Given the description of an element on the screen output the (x, y) to click on. 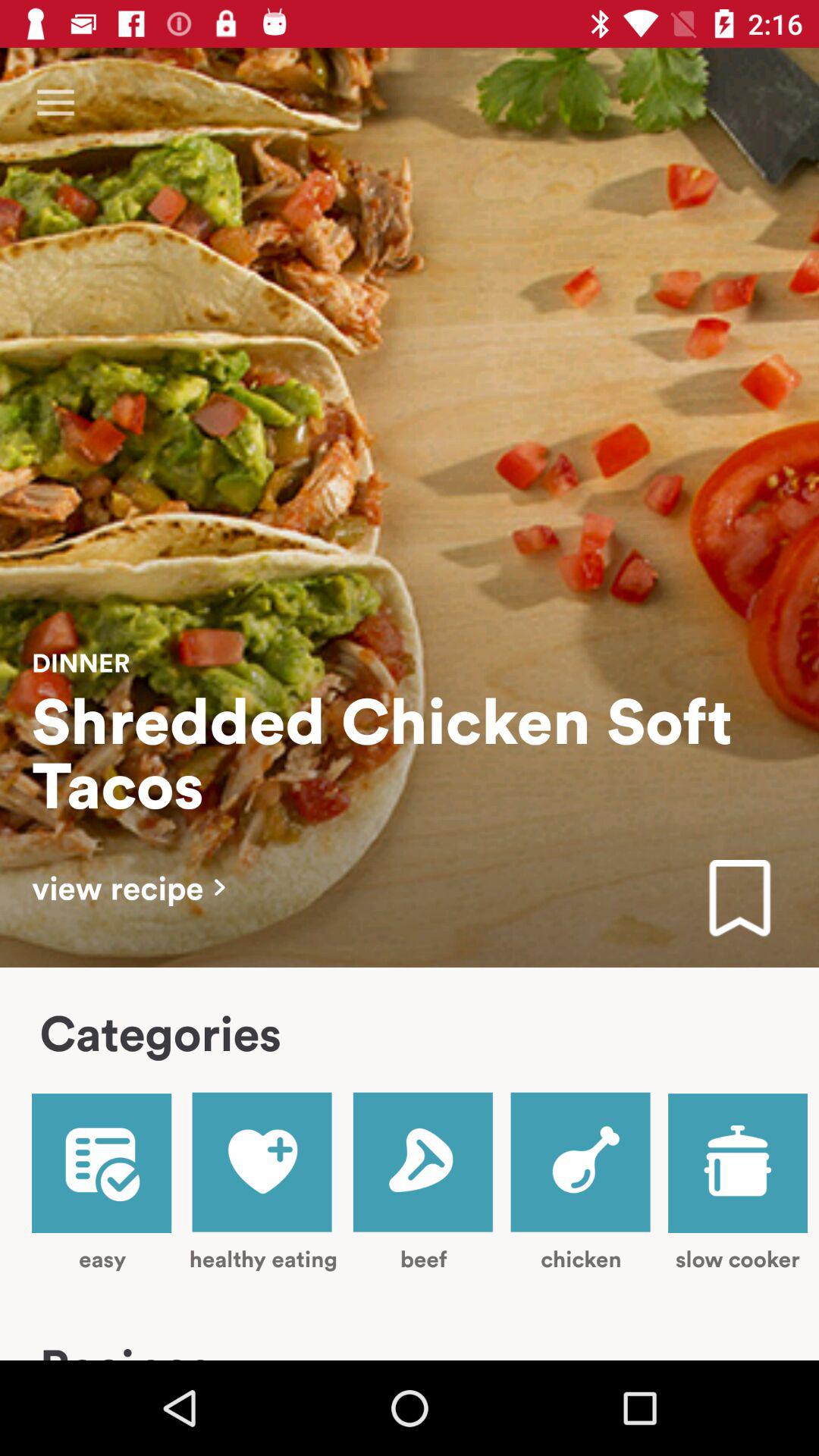
select the item next to chicken item (737, 1182)
